Given the description of an element on the screen output the (x, y) to click on. 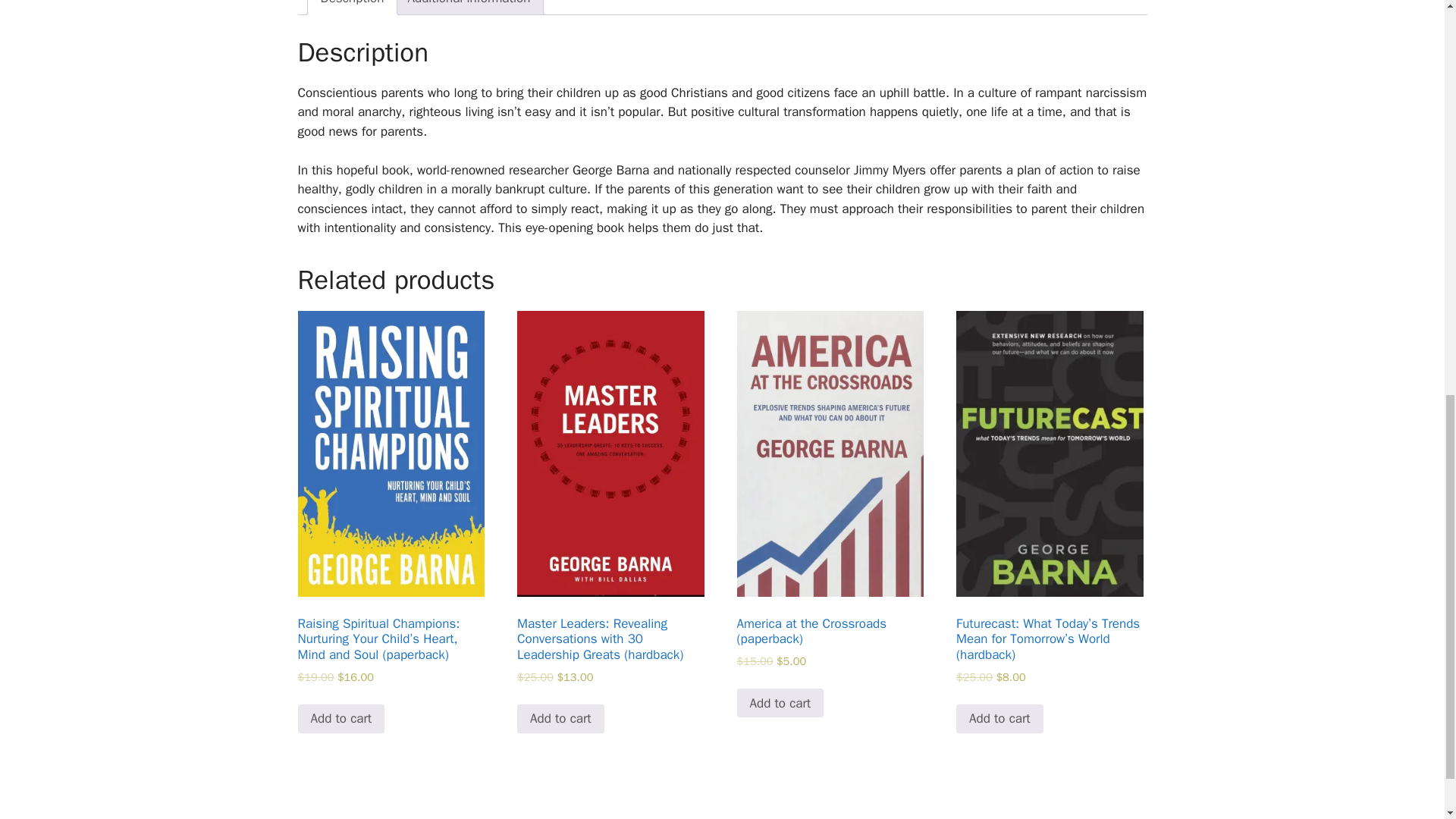
Description (352, 7)
Add to cart (560, 718)
Add to cart (780, 702)
Add to cart (340, 718)
Additional information (468, 7)
Add to cart (999, 718)
